Given the description of an element on the screen output the (x, y) to click on. 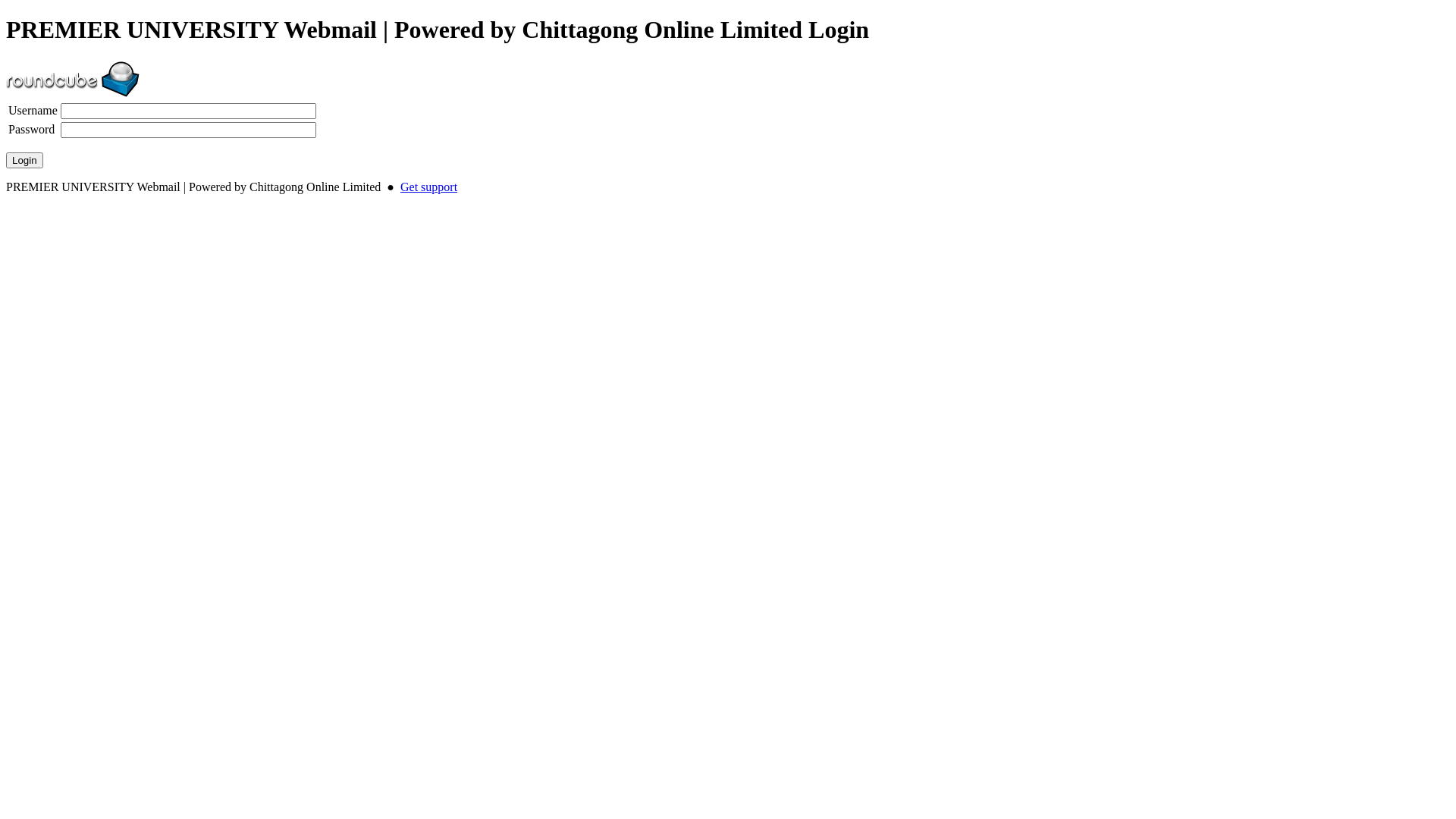
Login Element type: text (24, 160)
Get support Element type: text (428, 186)
